Given the description of an element on the screen output the (x, y) to click on. 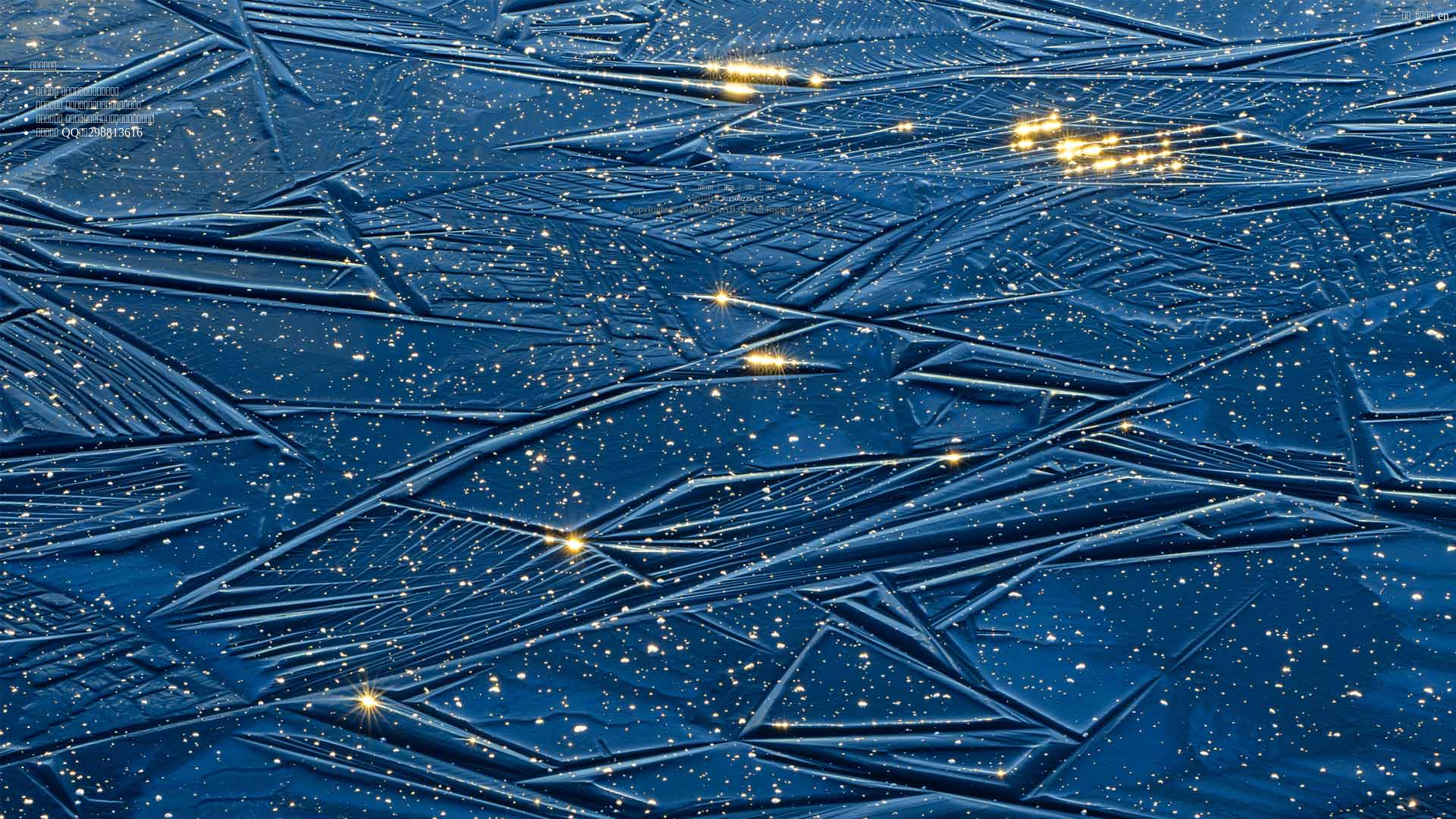
 en Element type: text (1441, 15)
